Given the description of an element on the screen output the (x, y) to click on. 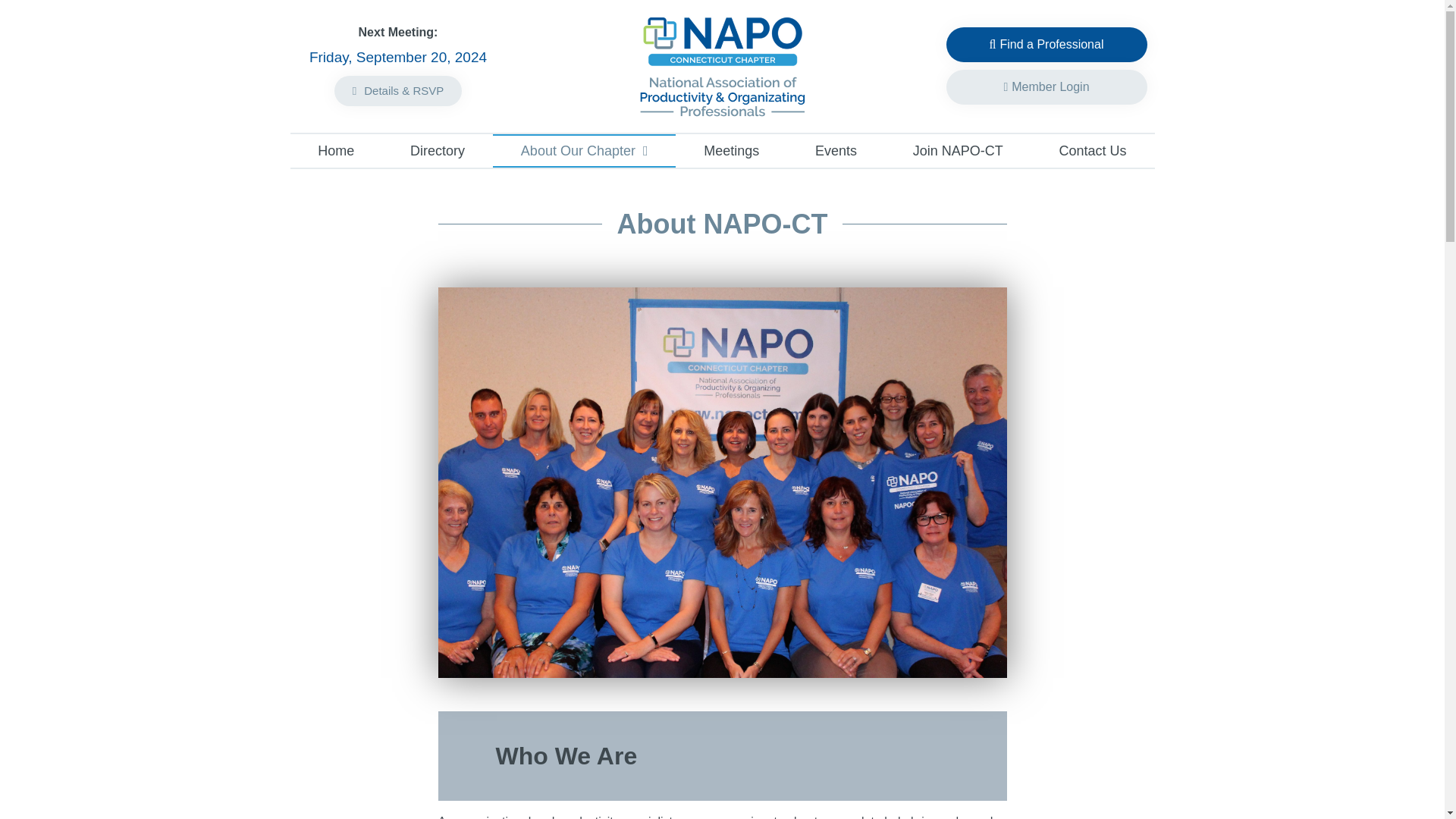
Directory (437, 150)
Member Login (1046, 86)
About Our Chapter (584, 150)
Contact Us (1092, 150)
Friday, September 20, 2024 (397, 57)
Meetings (731, 150)
Join NAPO-CT (957, 150)
Find a Professional (1046, 44)
Events (836, 150)
Home (335, 150)
